Given the description of an element on the screen output the (x, y) to click on. 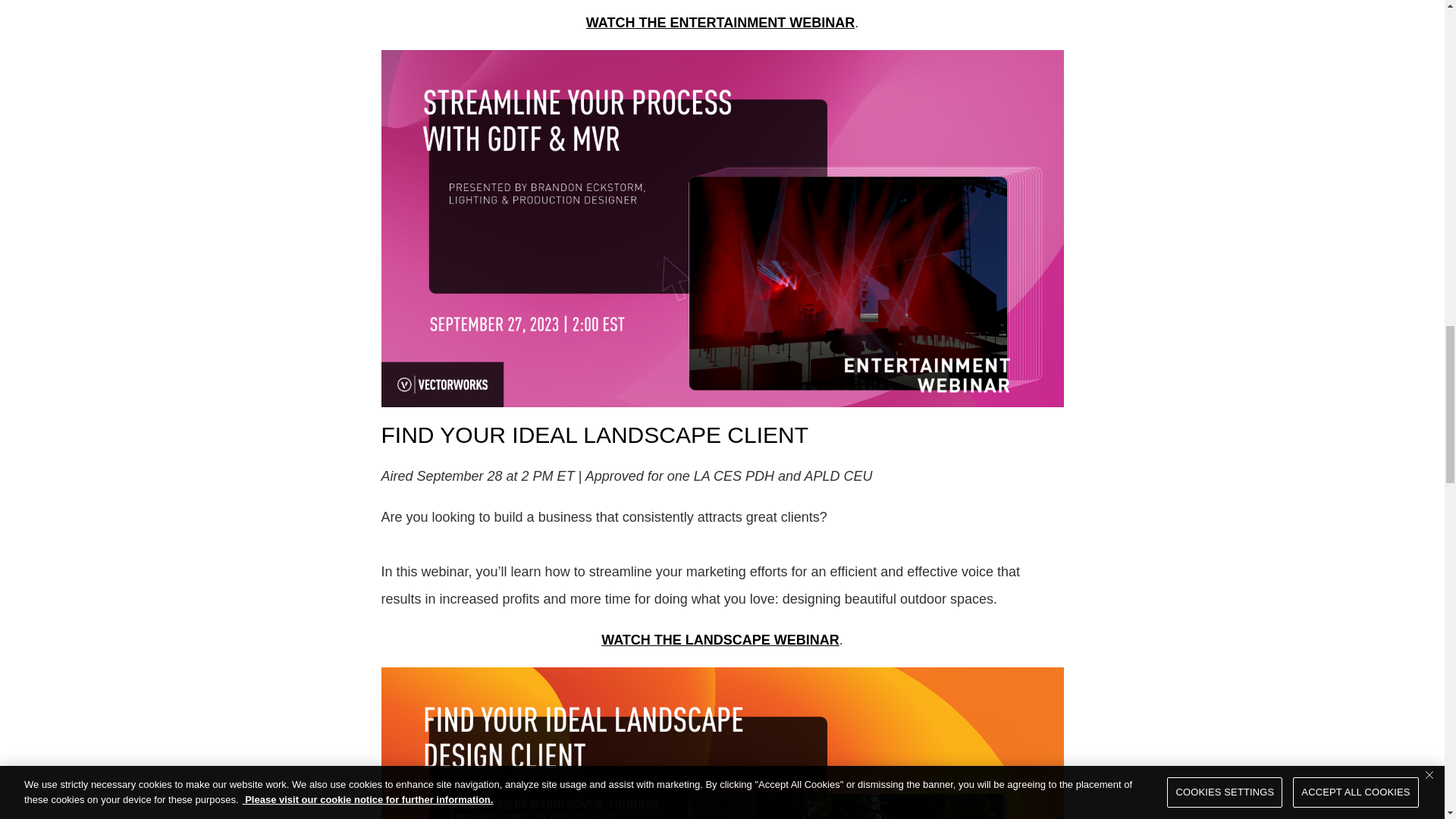
WATCH THE LANDSCAPE WEBINAR (720, 639)
WATCH THE ENTERTAINMENT WEBINAR (720, 22)
